Given the description of an element on the screen output the (x, y) to click on. 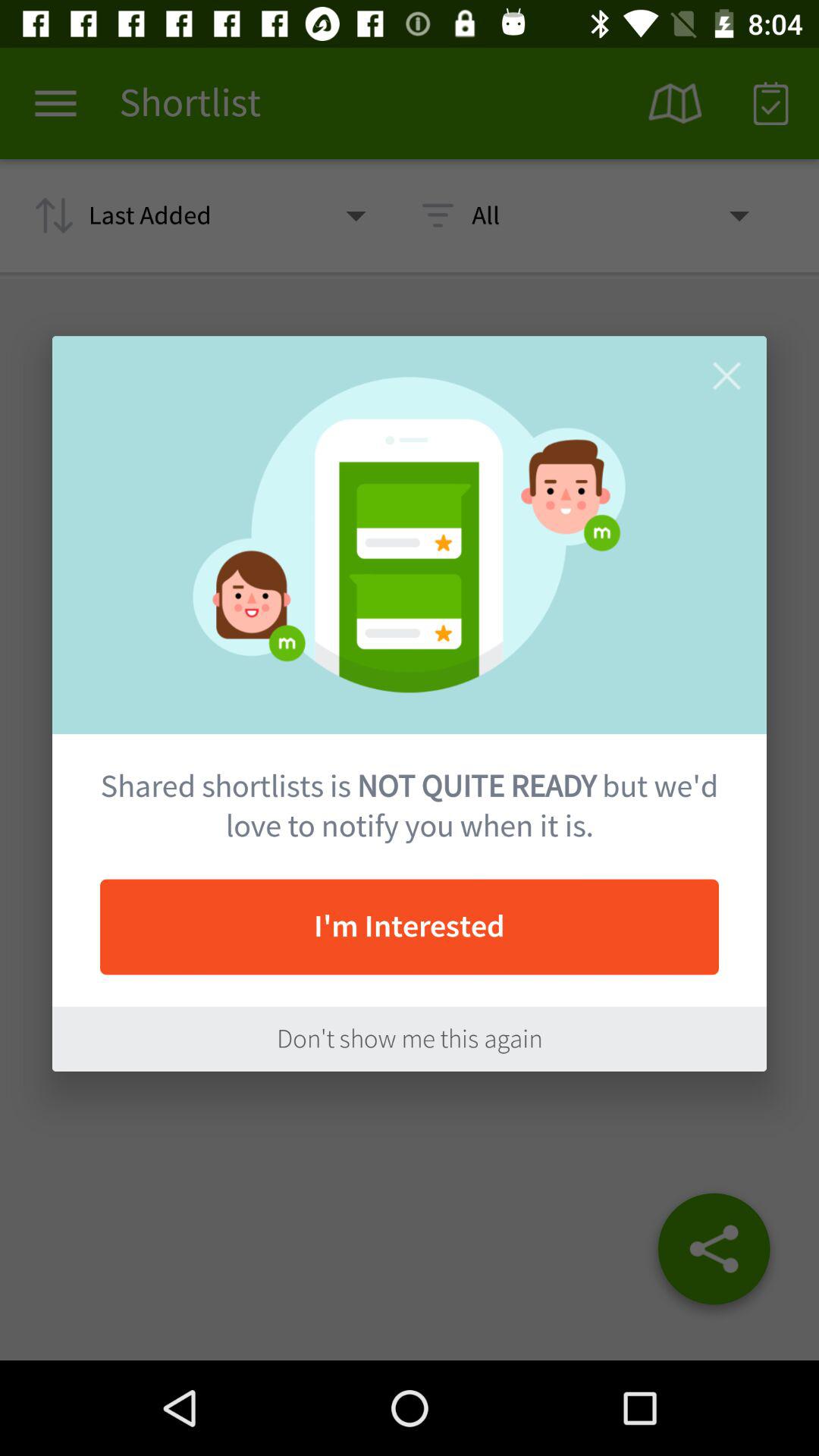
swipe to don t show icon (409, 1038)
